Given the description of an element on the screen output the (x, y) to click on. 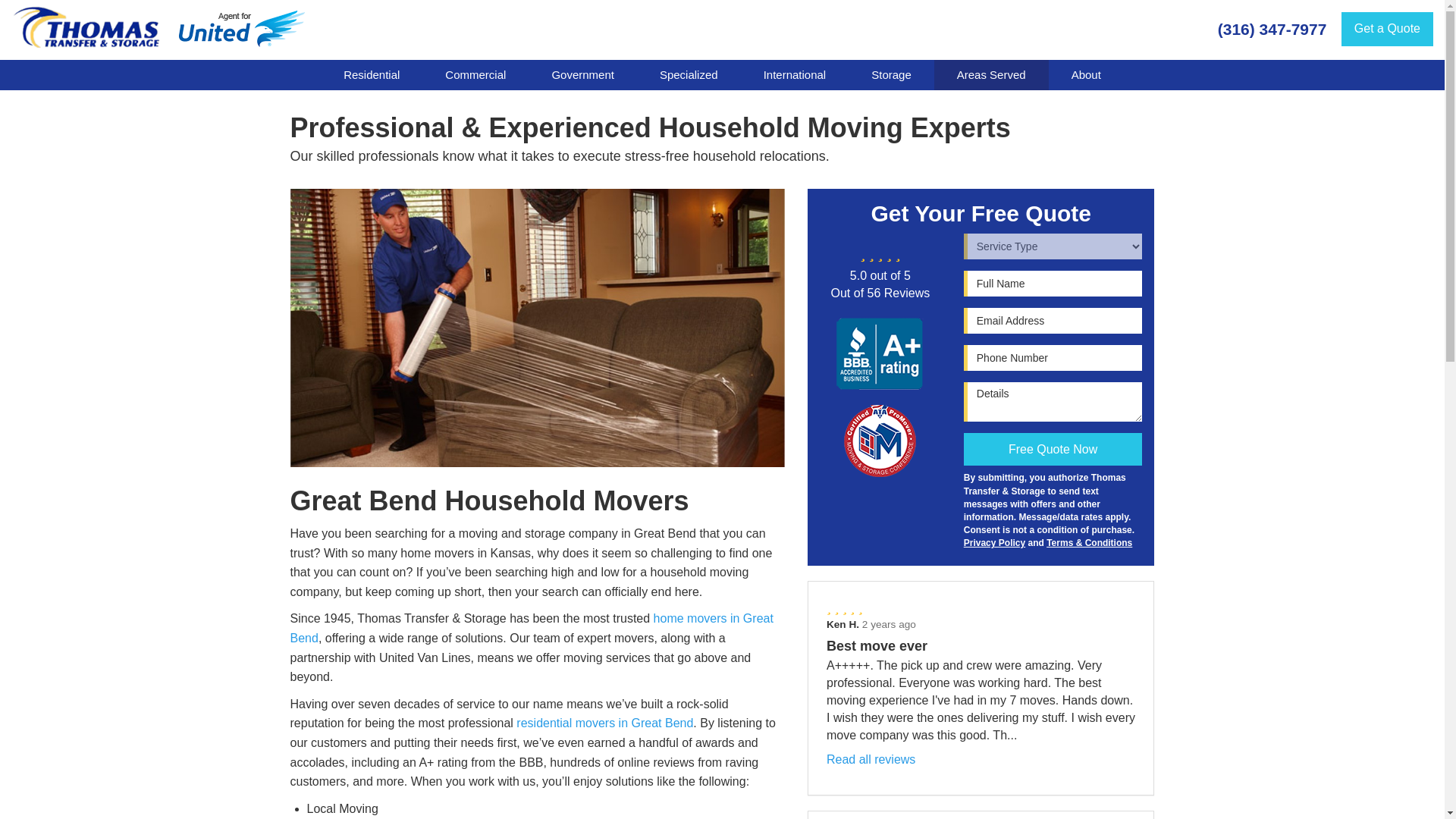
Commercial (475, 74)
Residential (371, 74)
Storage (891, 74)
Areas Served (991, 74)
About (1086, 74)
Get a Quote (1386, 28)
Government (582, 74)
5 Stars (981, 608)
International (794, 74)
Specialized (689, 74)
